Given the description of an element on the screen output the (x, y) to click on. 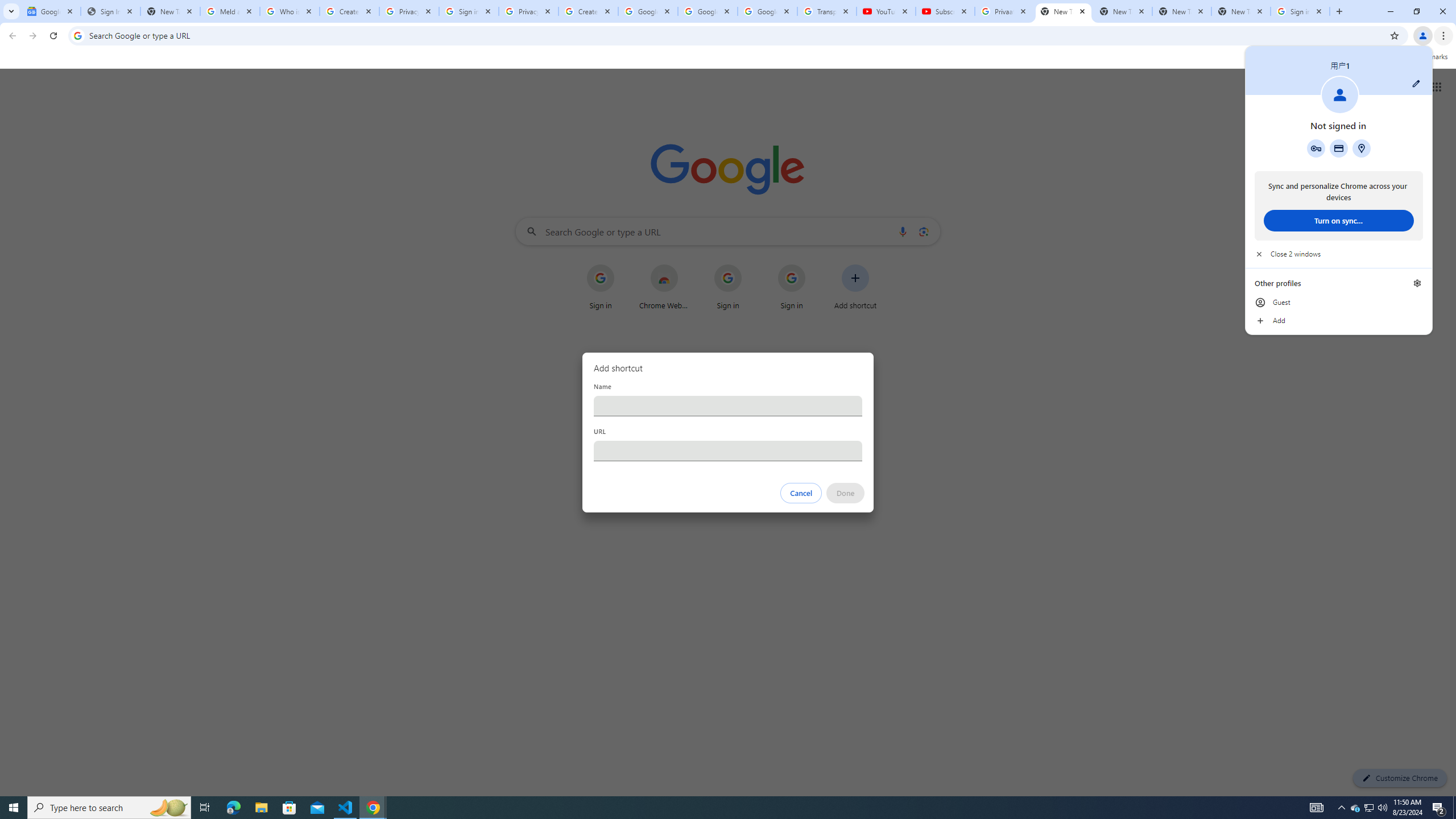
Create your Google Account (349, 11)
Type here to search (108, 807)
Addresses and more (1361, 148)
Start (13, 807)
Notification Chevron (1341, 807)
File Explorer (261, 807)
Close 2 windows (1338, 253)
Who is my administrator? - Google Account Help (289, 11)
